Given the description of an element on the screen output the (x, y) to click on. 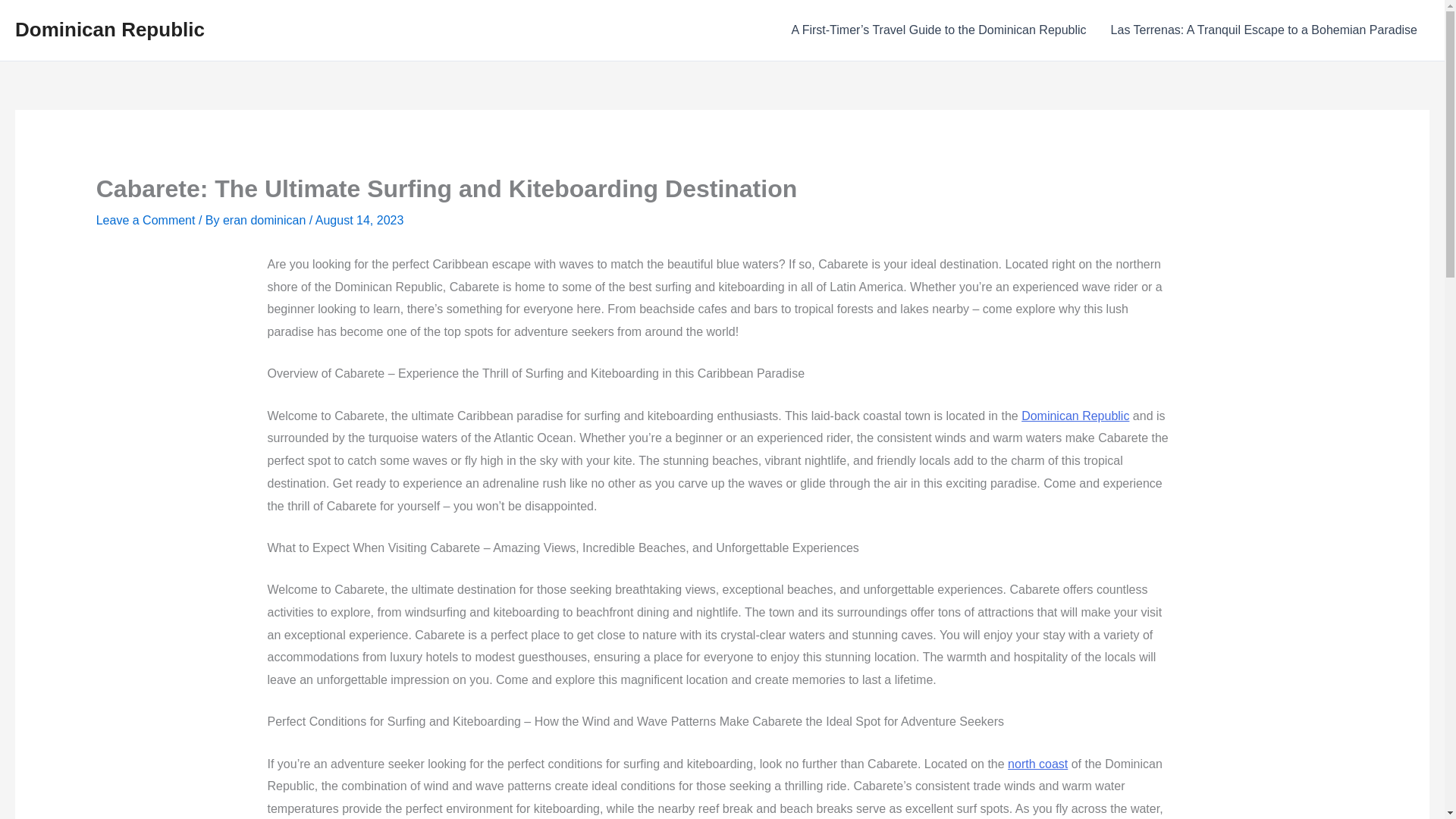
View all posts by eran dominican (265, 219)
Leave a Comment (145, 219)
Las Terrenas: A Tranquil Escape to a Bohemian Paradise (1264, 30)
Dominican Republic (1075, 415)
Dominican Republic (109, 29)
north coast (1037, 763)
eran dominican (265, 219)
